Given the description of an element on the screen output the (x, y) to click on. 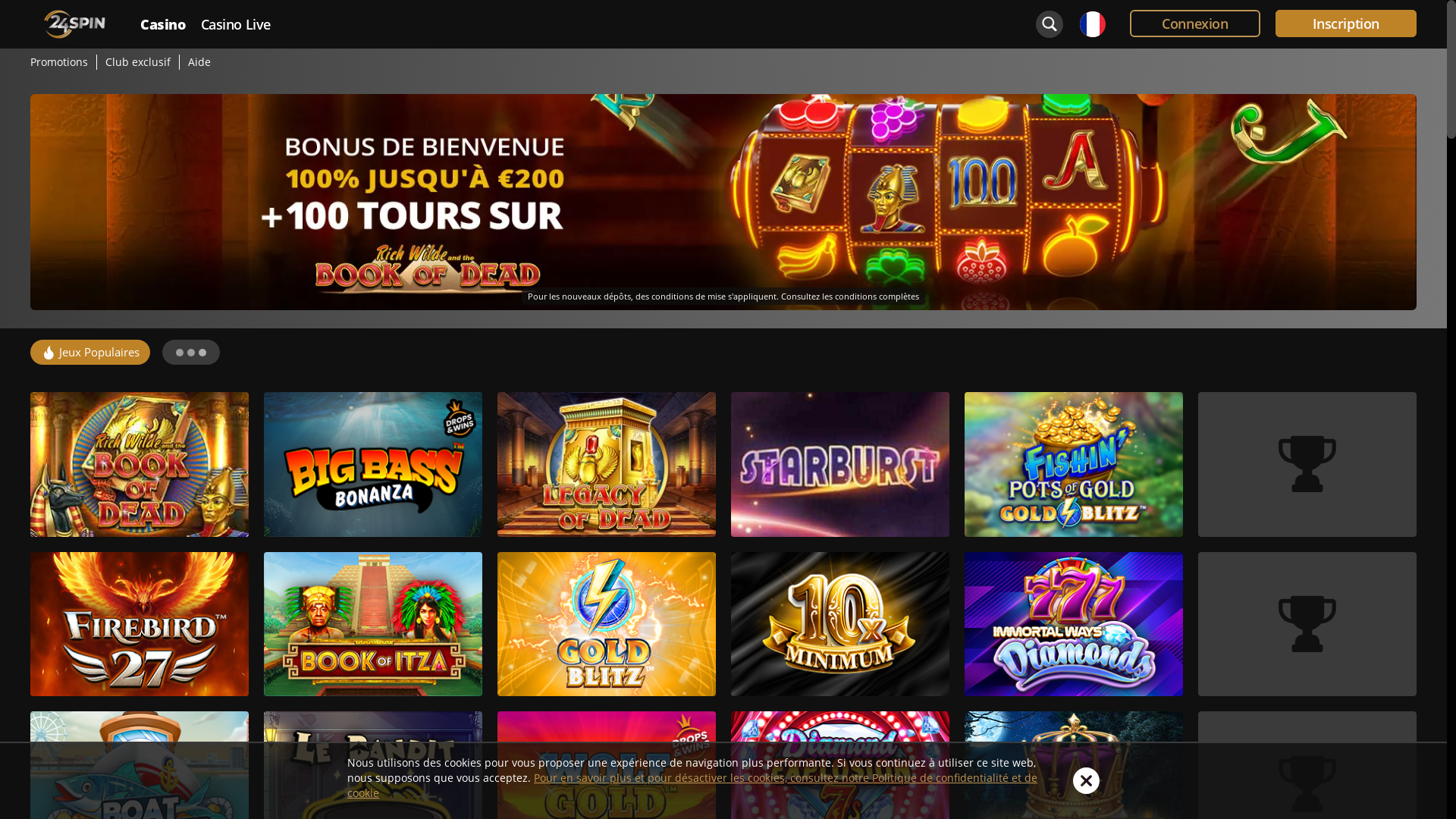
Connexion Element type: text (1194, 23)
Inscription Element type: text (1346, 23)
Casino Live Element type: text (235, 24)
Casino Element type: text (162, 24)
